Given the description of an element on the screen output the (x, y) to click on. 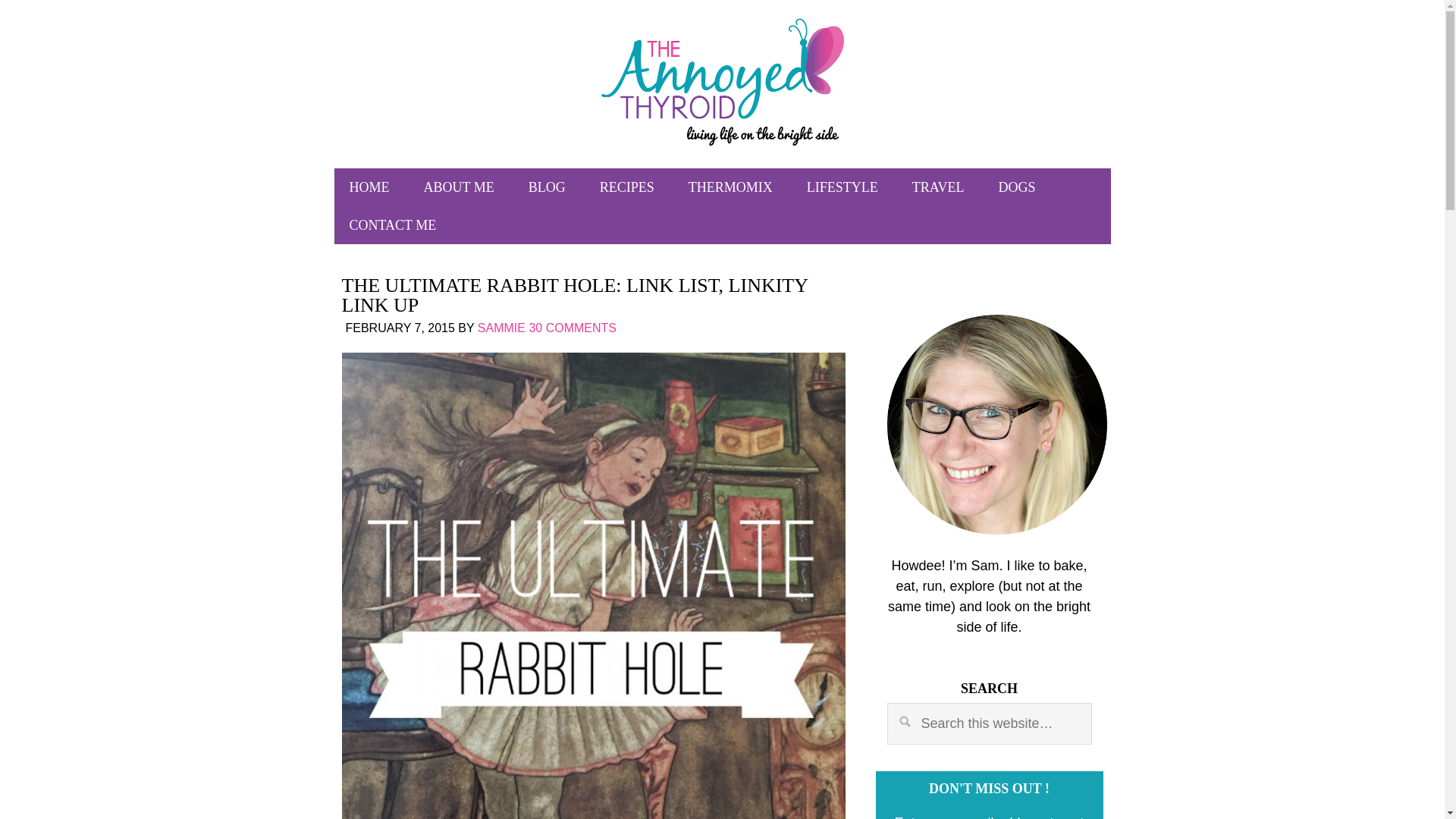
30 COMMENTS (571, 327)
THERMOMIX (729, 187)
CONTACT ME (392, 225)
ABOUT ME (459, 187)
RECIPES (627, 187)
SAMMIE (501, 327)
DOGS (1015, 187)
TRAVEL (937, 187)
LIFESTYLE (842, 187)
Search (1211, 713)
